Given the description of an element on the screen output the (x, y) to click on. 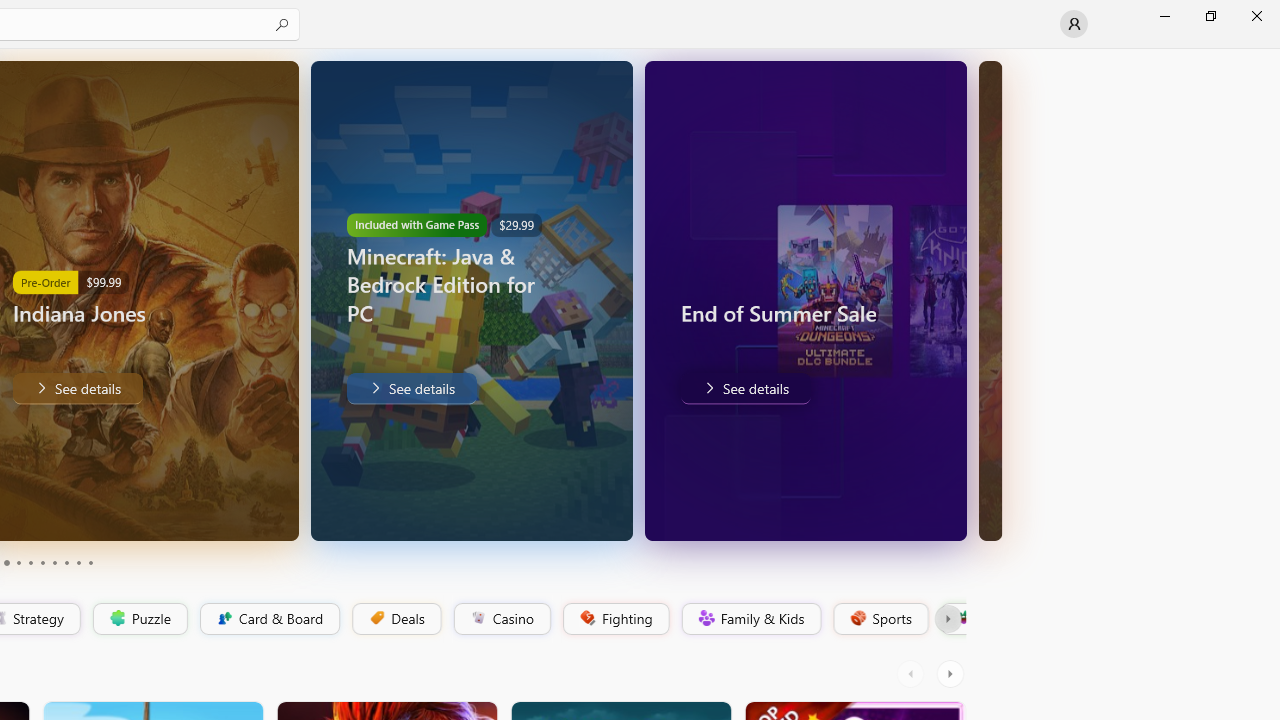
Puzzle (139, 619)
Page 6 (41, 562)
Class: Button (947, 619)
Platformer (952, 619)
Card & Board (268, 619)
Minimize Microsoft Store (1164, 15)
AutomationID: Image (989, 300)
Sports (879, 619)
Page 5 (29, 562)
End of Summer Sale. Save up to 80%.  . See details (744, 387)
AutomationID: LeftScrollButton (913, 673)
Page 3 (5, 562)
Fighting (614, 619)
Page 8 (65, 562)
